Given the description of an element on the screen output the (x, y) to click on. 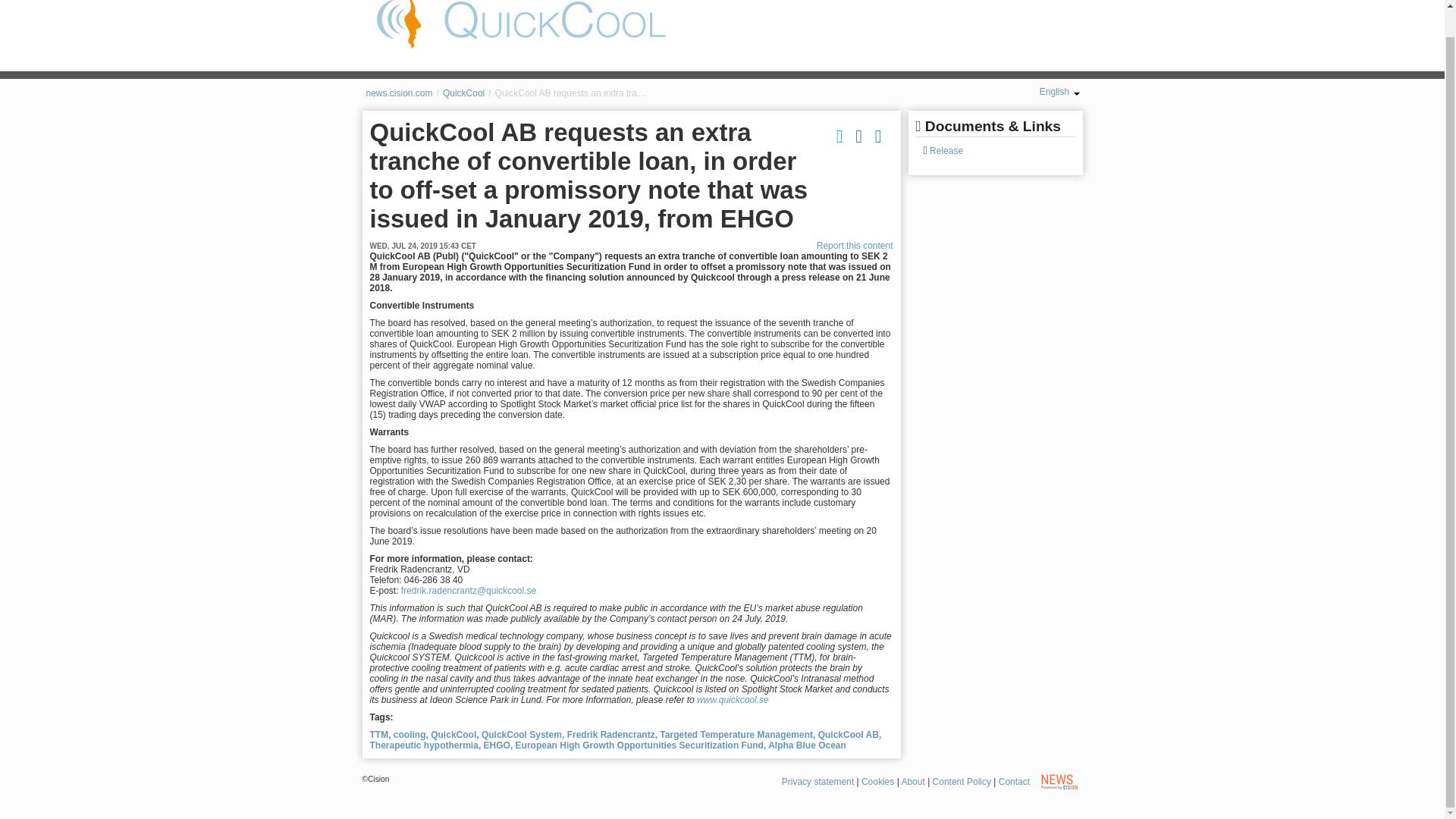
Targeted Temperature Management (737, 734)
Therapeutic hypothermia (425, 745)
EHGO (498, 745)
Cookies (877, 781)
Content Policy (962, 781)
QuickCool (520, 24)
QuickCool (454, 734)
Report this content (854, 245)
About (912, 781)
QuickCool (463, 92)
English (1059, 91)
QuickCool System (522, 734)
Fredrik Radencrantz (612, 734)
cooling (410, 734)
Release (944, 150)
